Given the description of an element on the screen output the (x, y) to click on. 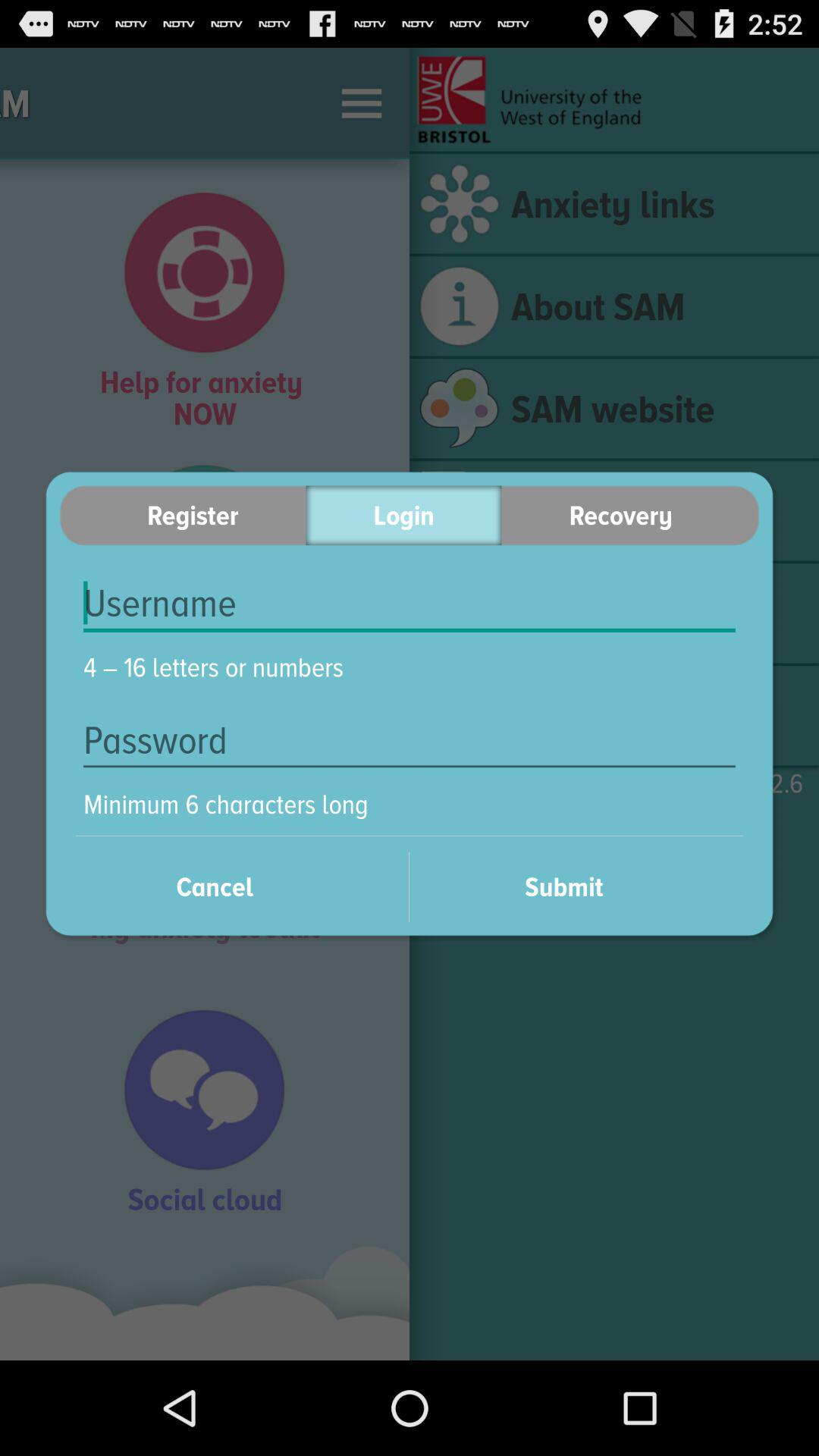
enter password (409, 740)
